Given the description of an element on the screen output the (x, y) to click on. 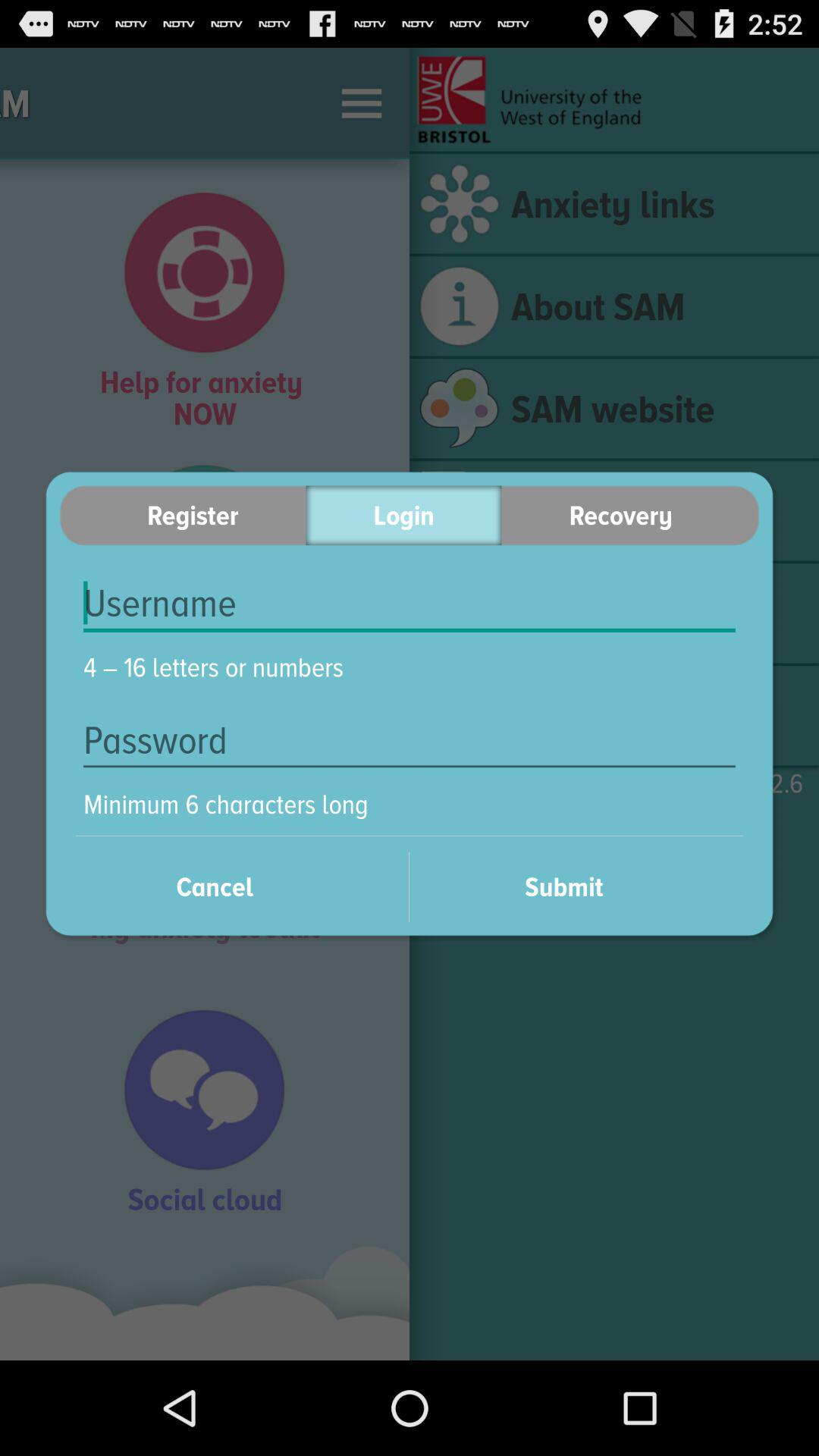
enter password (409, 740)
